Given the description of an element on the screen output the (x, y) to click on. 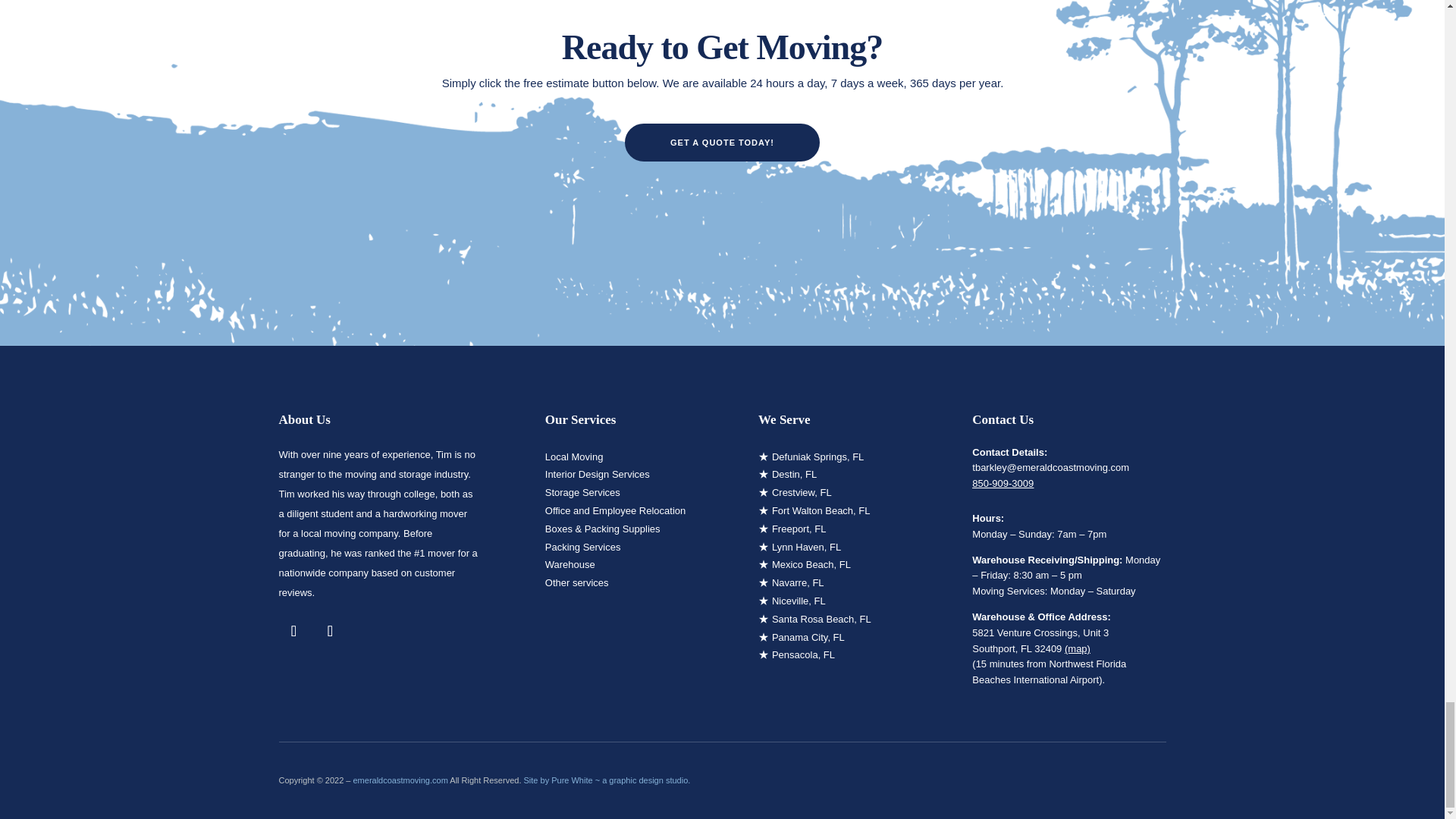
Follow on Facebook (293, 630)
Follow on Instagram (330, 630)
emeraldcoastmoving.com (400, 779)
